Given the description of an element on the screen output the (x, y) to click on. 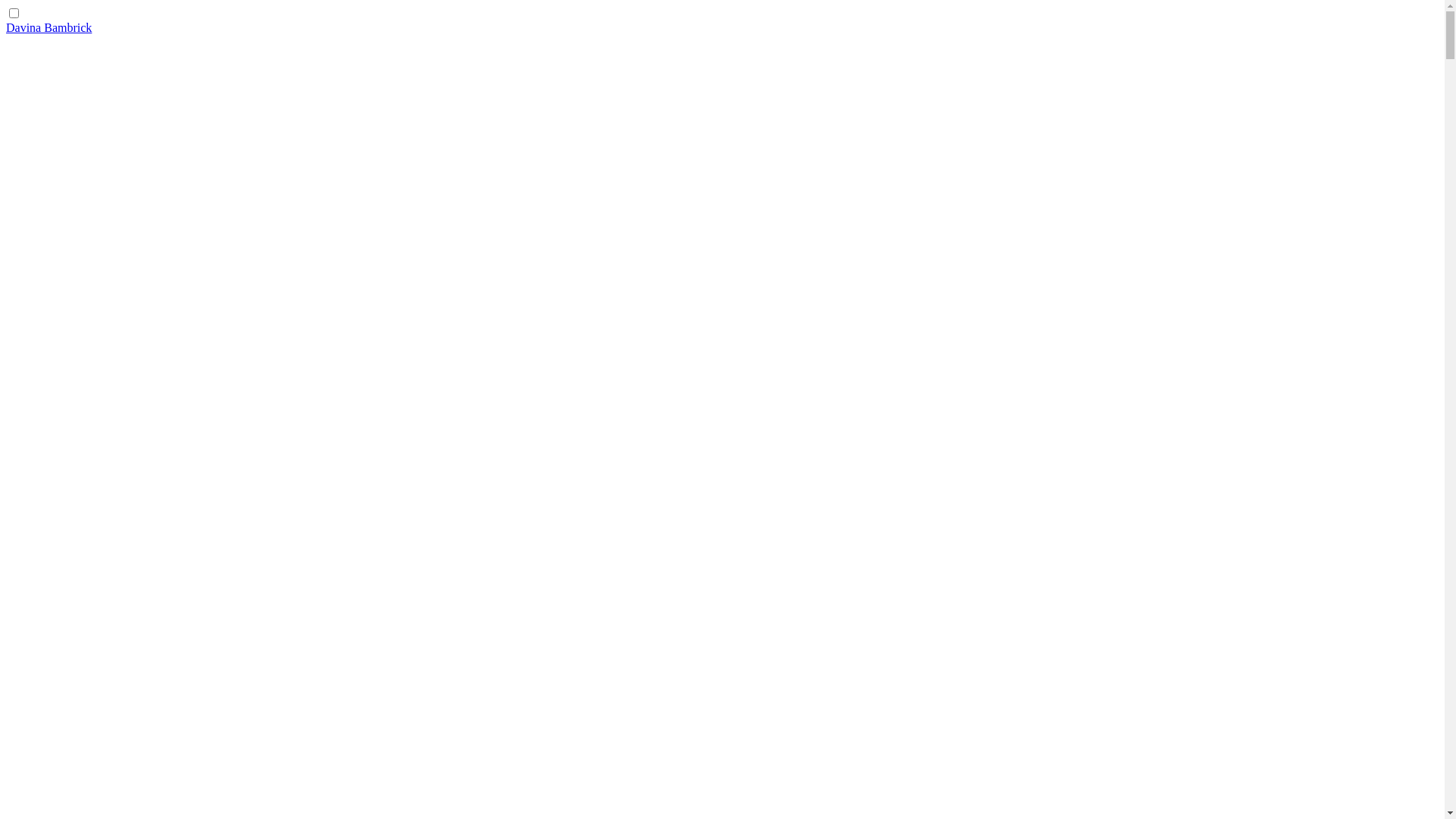
Davina Bambrick Element type: text (48, 27)
